Given the description of an element on the screen output the (x, y) to click on. 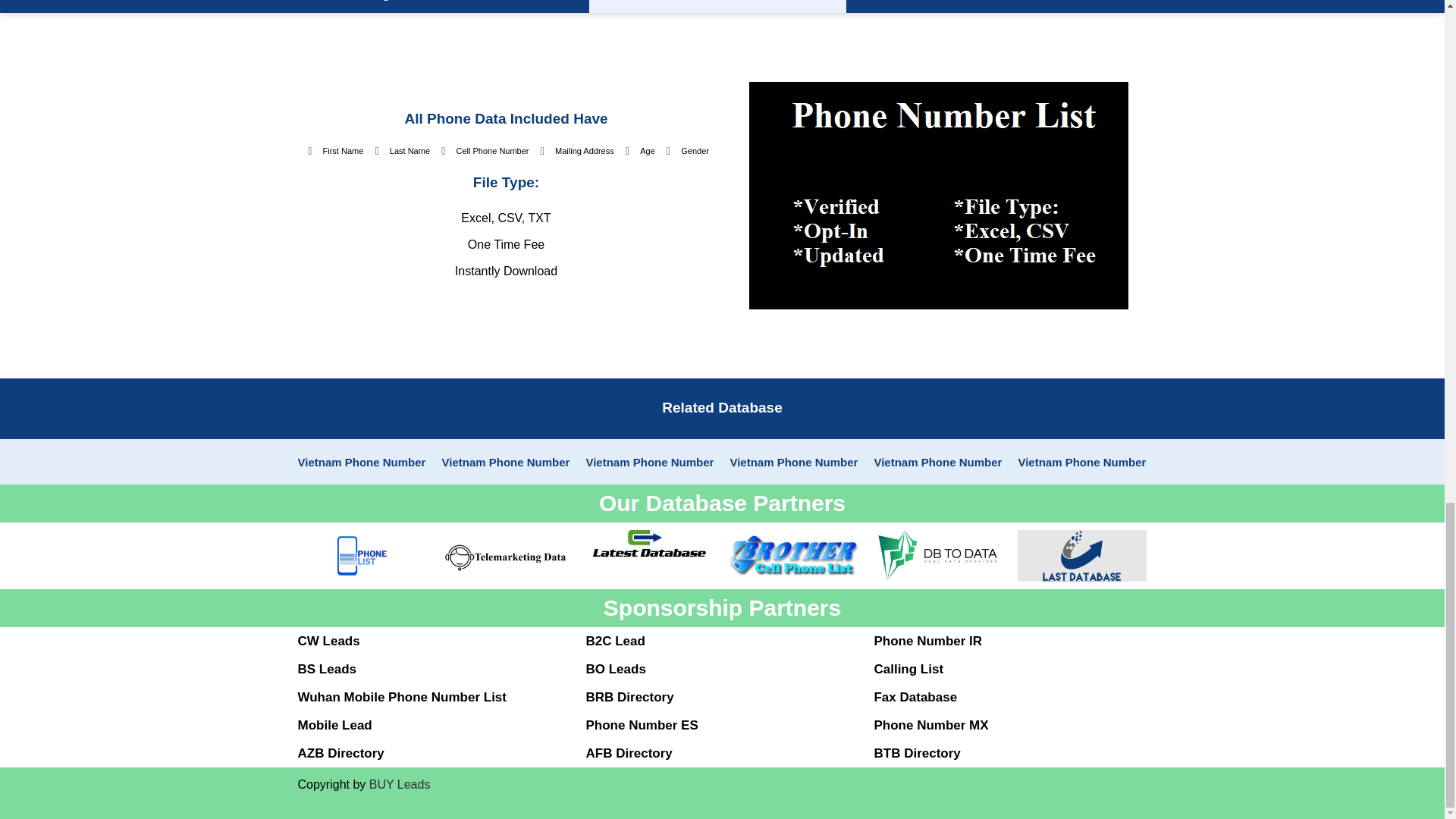
Phone Number IR (927, 640)
Vietnam Phone Number (649, 461)
Vietnam Phone Number (361, 461)
AFB Directory (628, 753)
BRB Directory (628, 697)
Wuhan Mobile Phone Number List (401, 697)
Phone Number ES (641, 725)
CW Leads (328, 640)
Vietnam Phone Number (793, 461)
AZB Directory (340, 753)
Vietnam Phone Number (1081, 461)
Buy Now (1083, 2)
BO Leads (615, 668)
BS Leads (326, 668)
Vietnam Phone Number (937, 461)
